Given the description of an element on the screen output the (x, y) to click on. 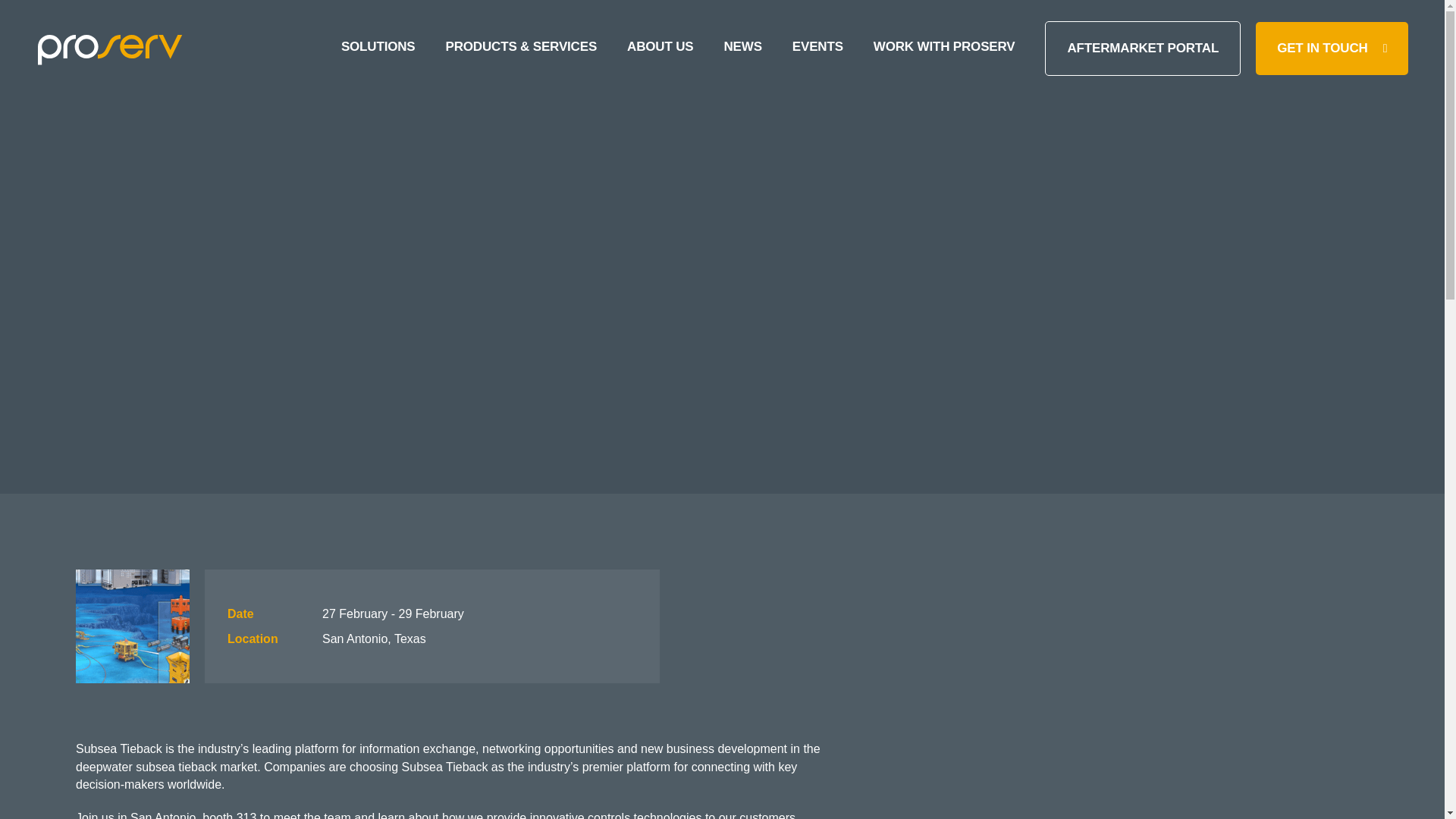
GET IN TOUCH (1331, 48)
WORK WITH PROSERV (943, 48)
AFTERMARKET PORTAL (1142, 48)
